Given the description of an element on the screen output the (x, y) to click on. 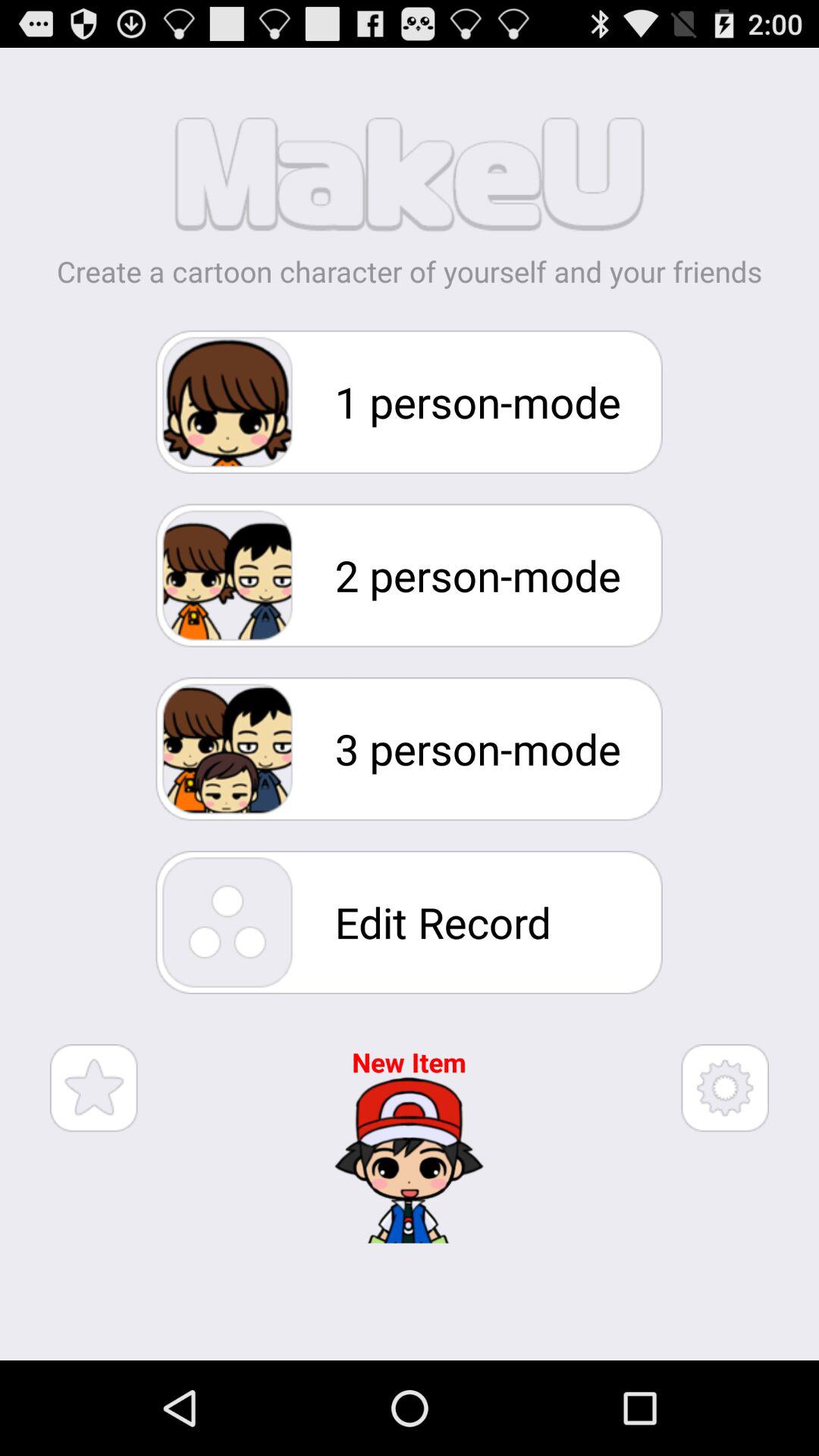
settings option (724, 1087)
